Given the description of an element on the screen output the (x, y) to click on. 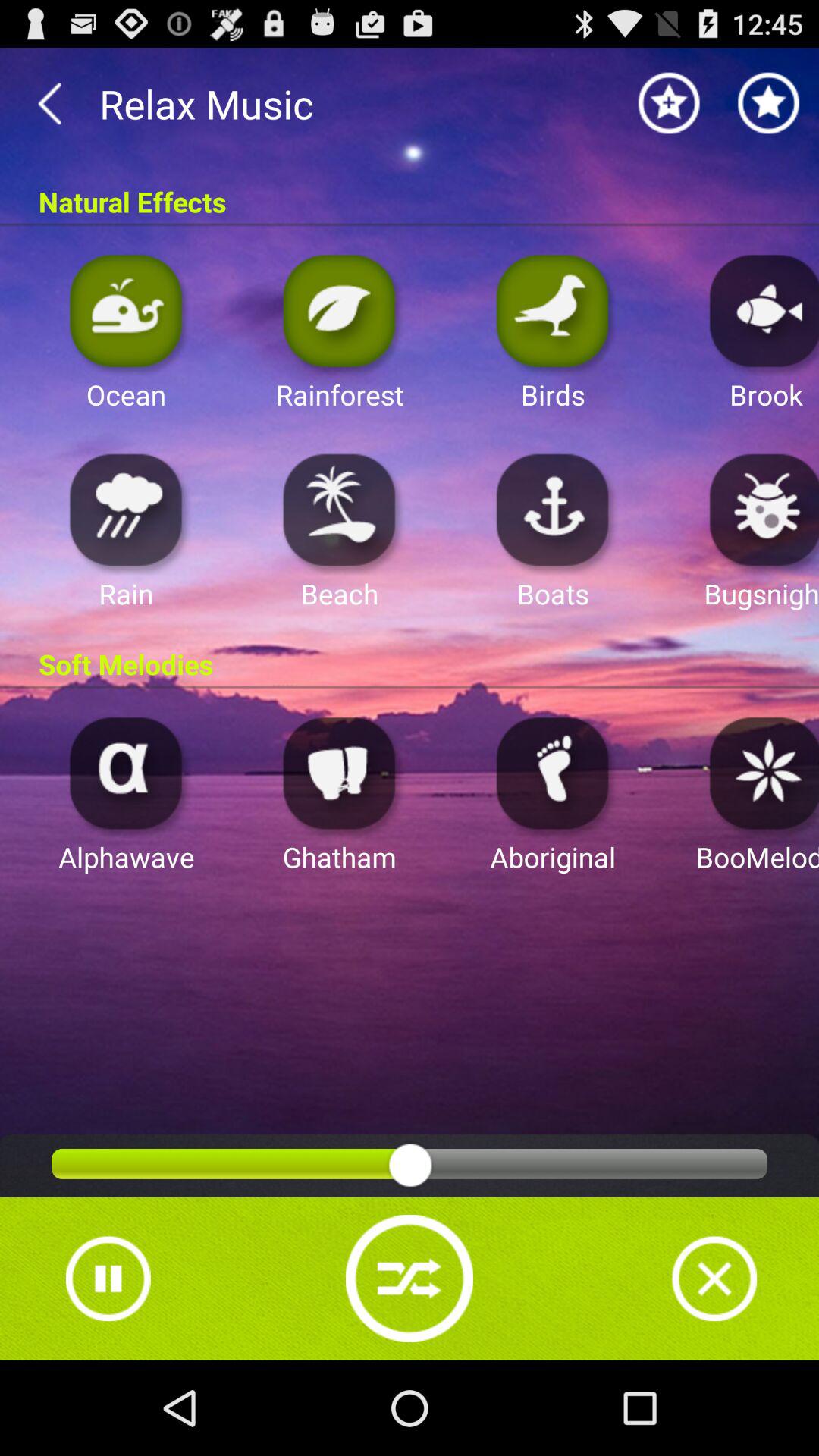
opens alphawave (126, 772)
